Given the description of an element on the screen output the (x, y) to click on. 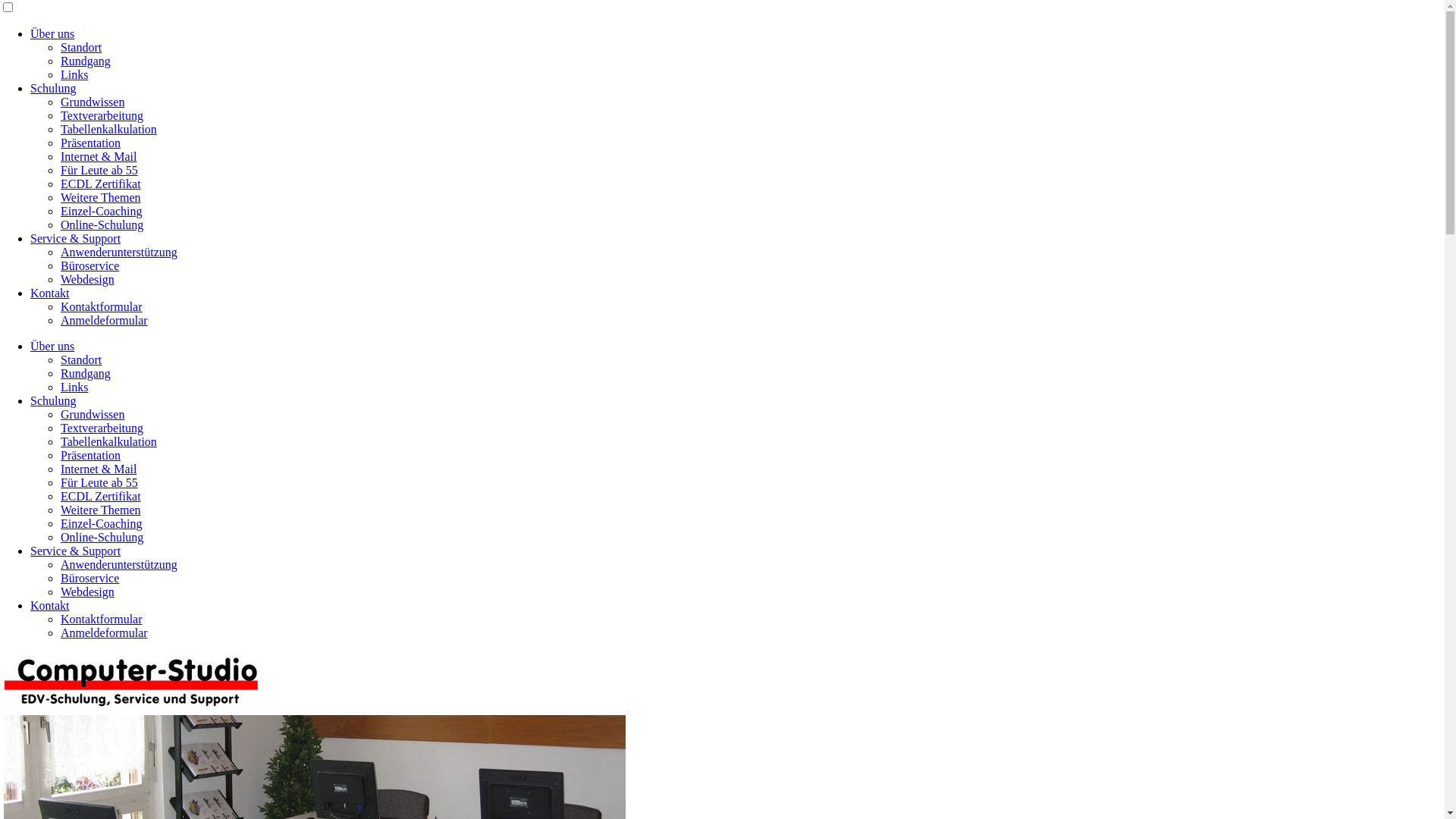
Standort Element type: text (80, 46)
Schulung Element type: text (52, 400)
Tabellenkalkulation Element type: text (108, 128)
Online-Schulung Element type: text (101, 224)
Webdesign Element type: text (87, 591)
Tabellenkalkulation Element type: text (108, 441)
Rundgang Element type: text (85, 373)
Rundgang Element type: text (85, 60)
Kontaktformular Element type: text (101, 618)
Weitere Themen Element type: text (100, 509)
Einzel-Coaching Element type: text (101, 523)
Grundwissen Element type: text (92, 101)
Kontakt Element type: text (49, 292)
Links Element type: text (73, 74)
Webdesign Element type: text (87, 279)
Grundwissen Element type: text (92, 413)
Schulung Element type: text (52, 87)
Service & Support Element type: text (75, 238)
Service & Support Element type: text (75, 550)
ECDL Zertifikat Element type: text (100, 183)
Weitere Themen Element type: text (100, 197)
ECDL Zertifikat Element type: text (100, 495)
Standort Element type: text (80, 359)
Links Element type: text (73, 386)
Anmeldeformular Element type: text (103, 632)
Online-Schulung Element type: text (101, 536)
Anmeldeformular Element type: text (103, 319)
Textverarbeitung Element type: text (101, 115)
Einzel-Coaching Element type: text (101, 210)
Kontakt Element type: text (49, 605)
Textverarbeitung Element type: text (101, 427)
Internet & Mail Element type: text (98, 468)
Internet & Mail Element type: text (98, 156)
Kontaktformular Element type: text (101, 306)
